Given the description of an element on the screen output the (x, y) to click on. 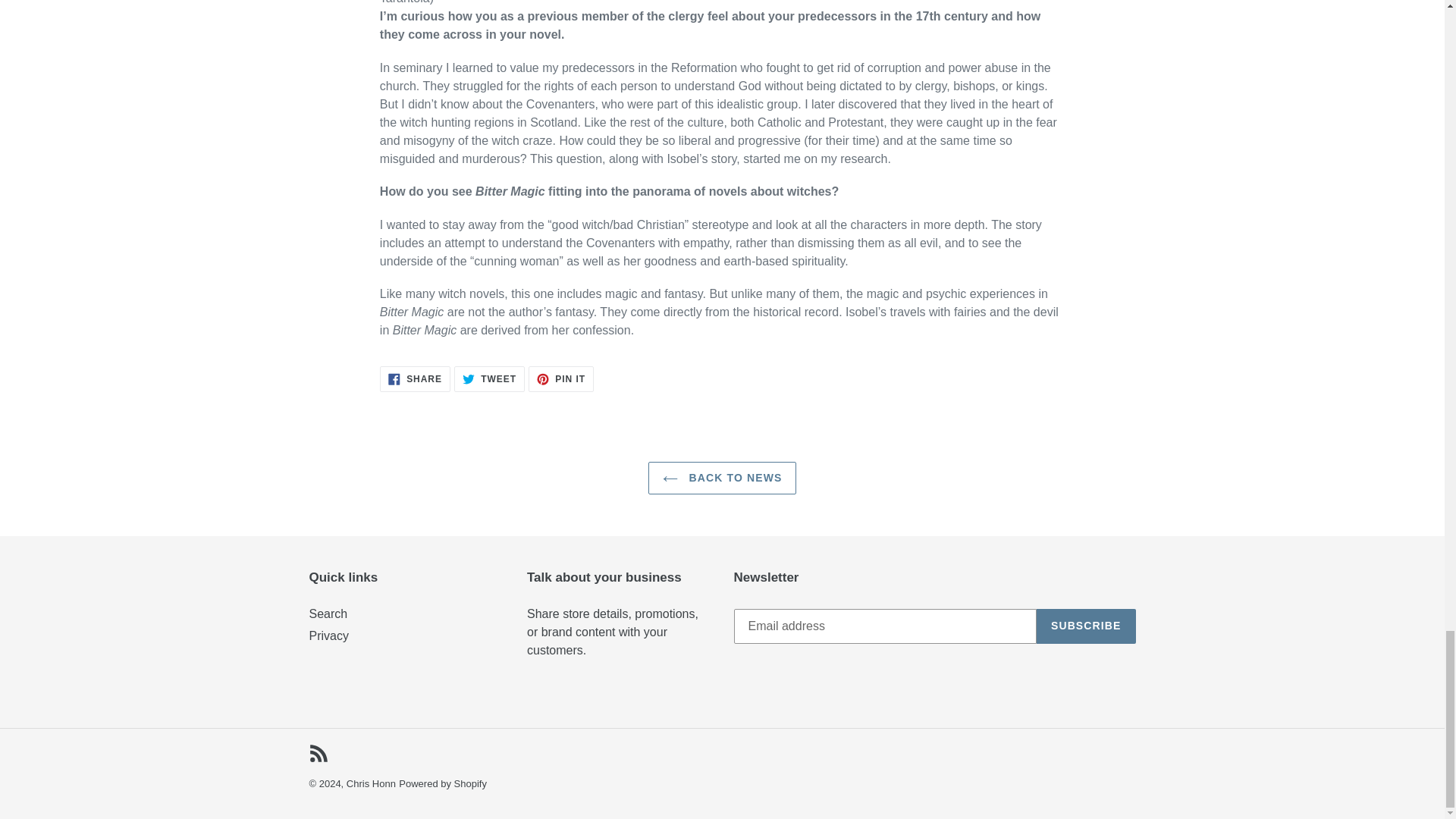
Chris Honn (371, 783)
BACK TO NEWS (414, 379)
RSS (489, 379)
Powered by Shopify (721, 477)
Search (318, 752)
SUBSCRIBE (442, 783)
Privacy (561, 379)
